Given the description of an element on the screen output the (x, y) to click on. 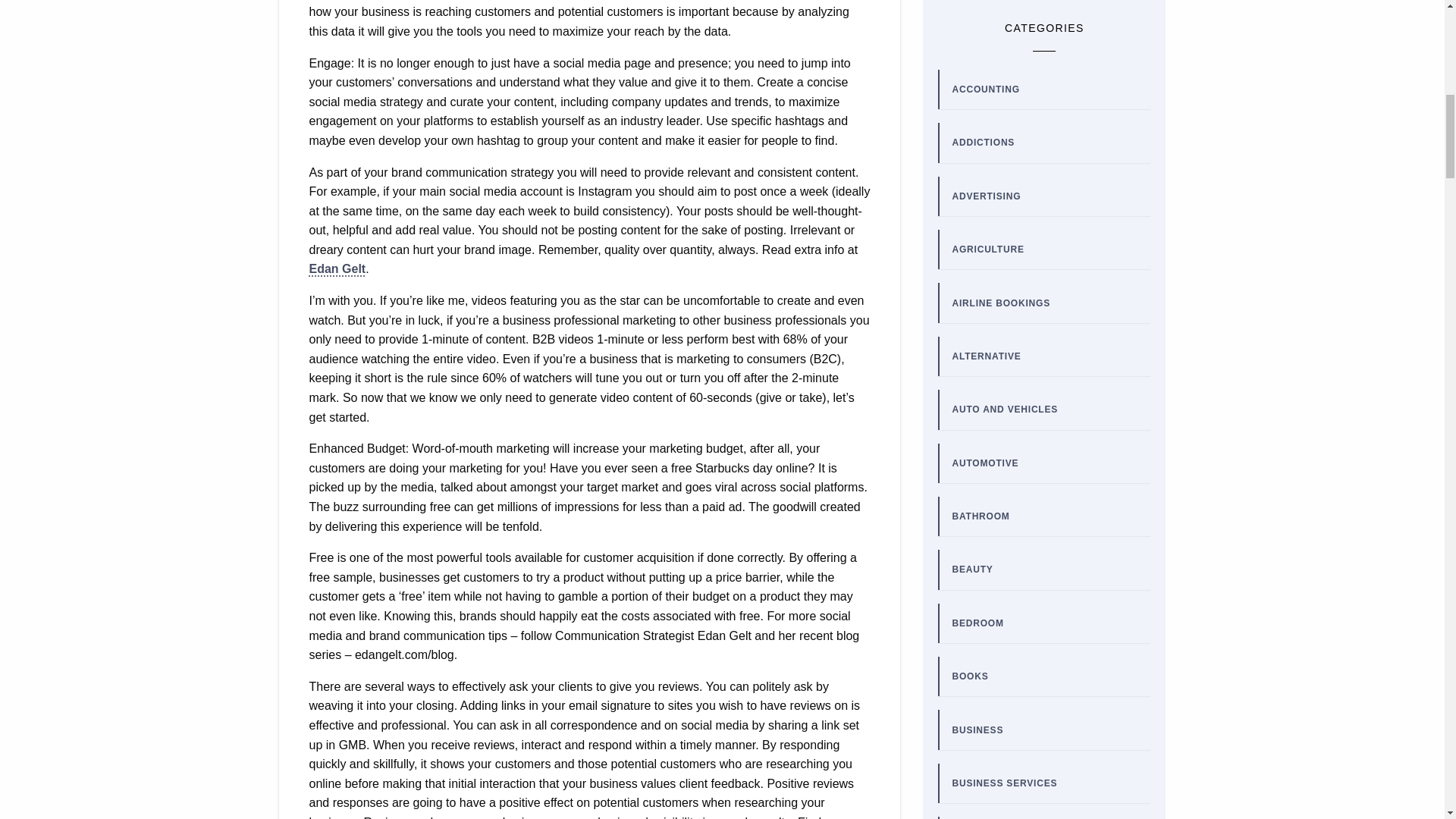
ADVERTISING (986, 195)
AIRLINE BOOKINGS (1000, 303)
Edan Gelt (337, 268)
ACCOUNTING (985, 89)
AGRICULTURE (987, 249)
ADDICTIONS (983, 142)
